Given the description of an element on the screen output the (x, y) to click on. 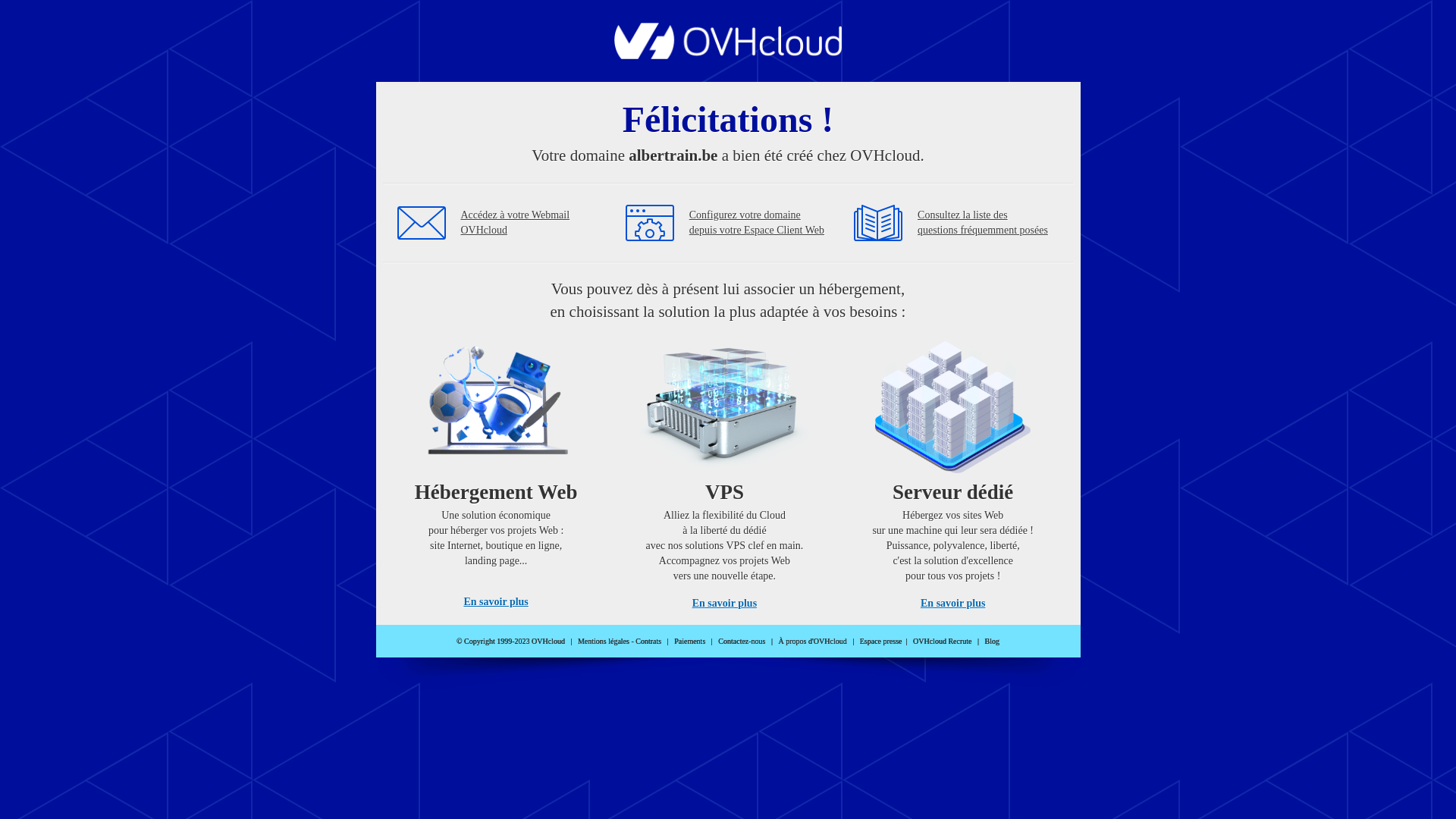
Blog Element type: text (992, 641)
En savoir plus Element type: text (724, 602)
En savoir plus Element type: text (495, 601)
Espace presse Element type: text (880, 641)
OVHcloud Recrute Element type: text (942, 641)
Contactez-nous Element type: text (741, 641)
OVHcloud Element type: hover (727, 54)
Paiements Element type: text (689, 641)
Configurez votre domaine
depuis votre Espace Client Web Element type: text (756, 222)
En savoir plus Element type: text (952, 602)
VPS Element type: hover (724, 469)
